Given the description of an element on the screen output the (x, y) to click on. 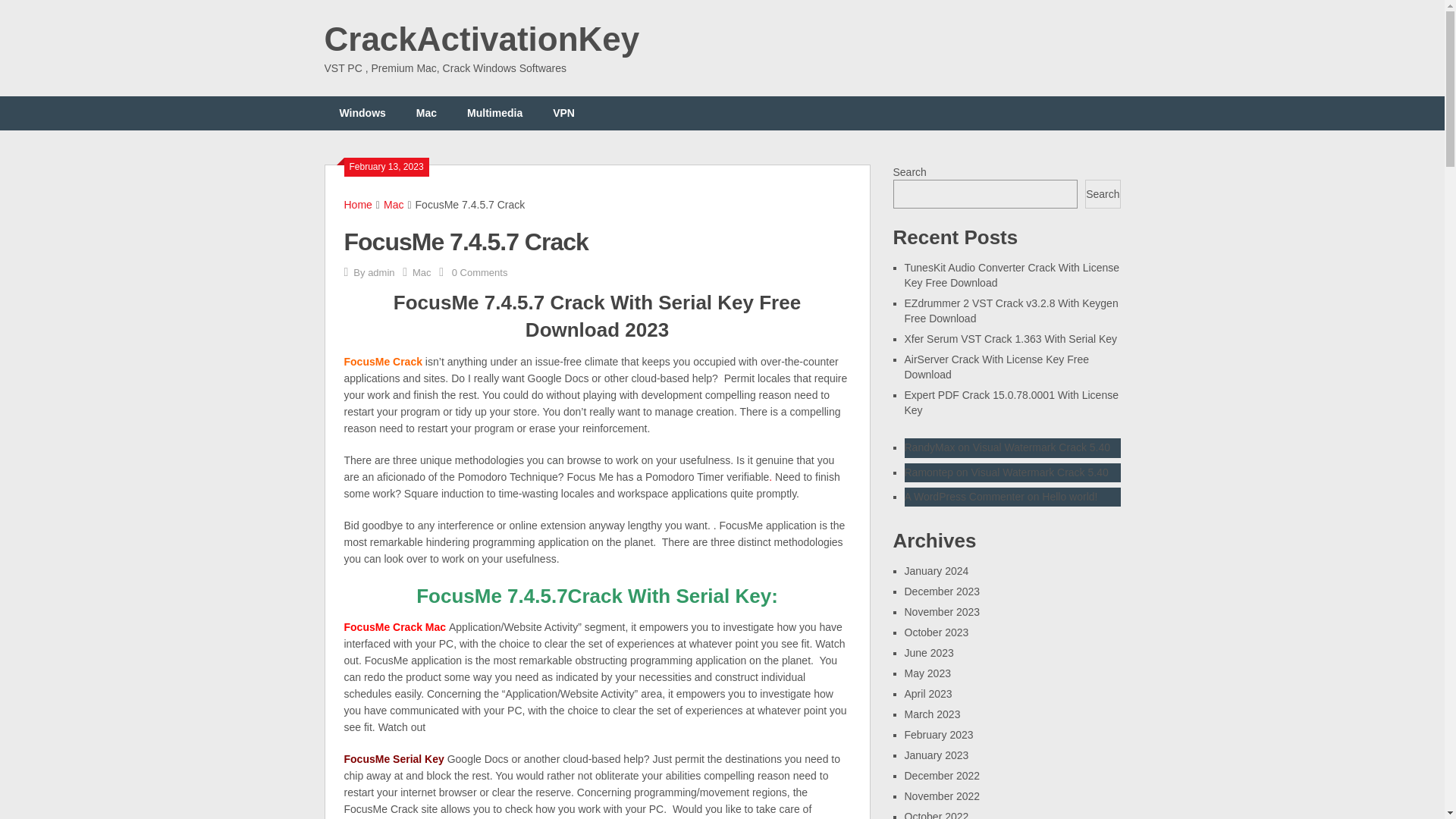
EZdrummer 2 VST Crack v3.2.8 With Keygen Free Download (1011, 310)
A WordPress Commenter (963, 496)
Visual Watermark Crack 5.40 (1040, 447)
Multimedia (494, 113)
Mac (426, 113)
Home (357, 204)
Posts by admin (381, 272)
Hello world! (1069, 496)
Windows (362, 113)
VPN (563, 113)
January 2024 (936, 571)
Xfer Serum VST Crack 1.363 With Serial Key (1010, 338)
Mac (421, 272)
AirServer Crack With License Key Free Download (996, 366)
FocusMe Crack (382, 361)
